Given the description of an element on the screen output the (x, y) to click on. 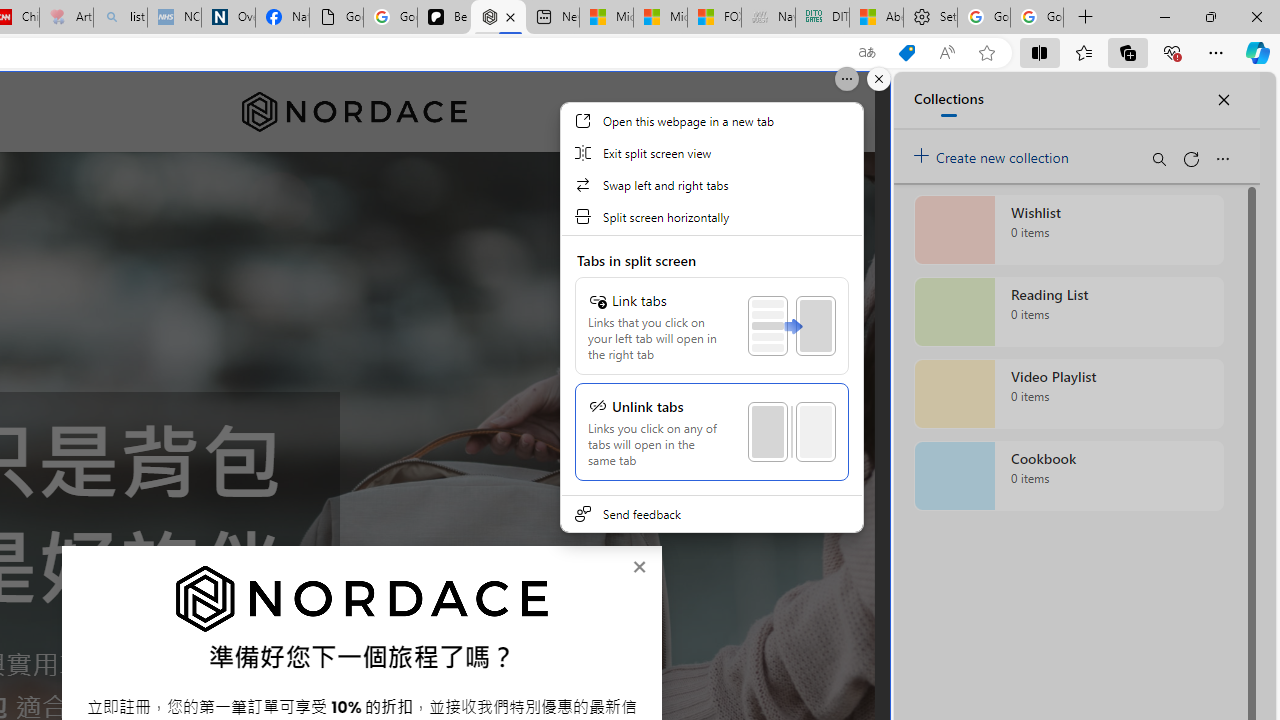
Tabs in split screen (711, 365)
This site has coupons! Shopping in Microsoft Edge (906, 53)
To get missing image descriptions, open the context menu. (361, 598)
Unlink tabs (711, 431)
More options. (846, 79)
Be Smart | creating Science videos | Patreon (444, 17)
Swap left and right tabs (711, 184)
Exit split screen view (711, 152)
Class: MenuScrollViewContainer (712, 329)
